Given the description of an element on the screen output the (x, y) to click on. 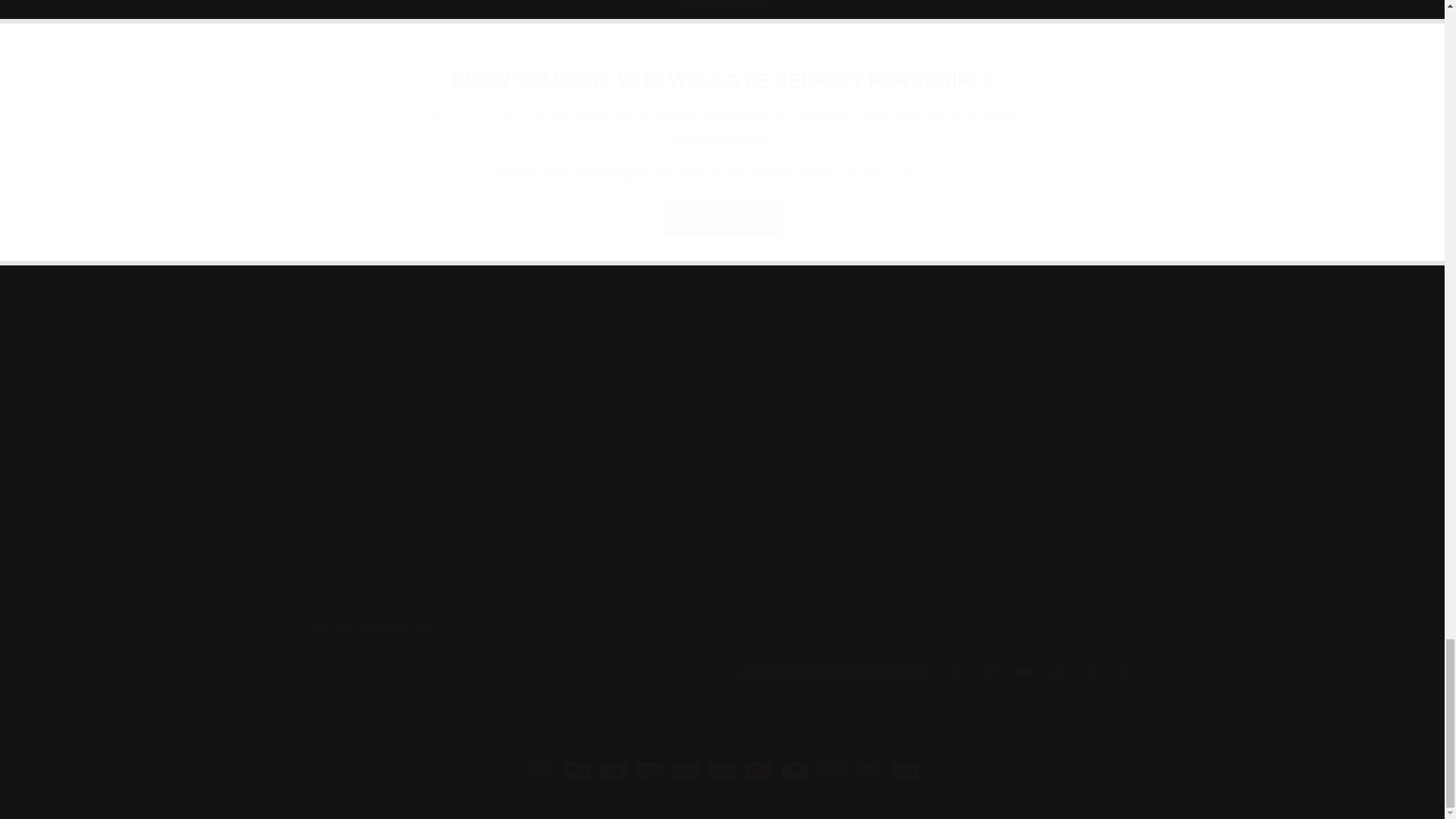
Contact (488, 117)
Get in touch! (722, 218)
